Given the description of an element on the screen output the (x, y) to click on. 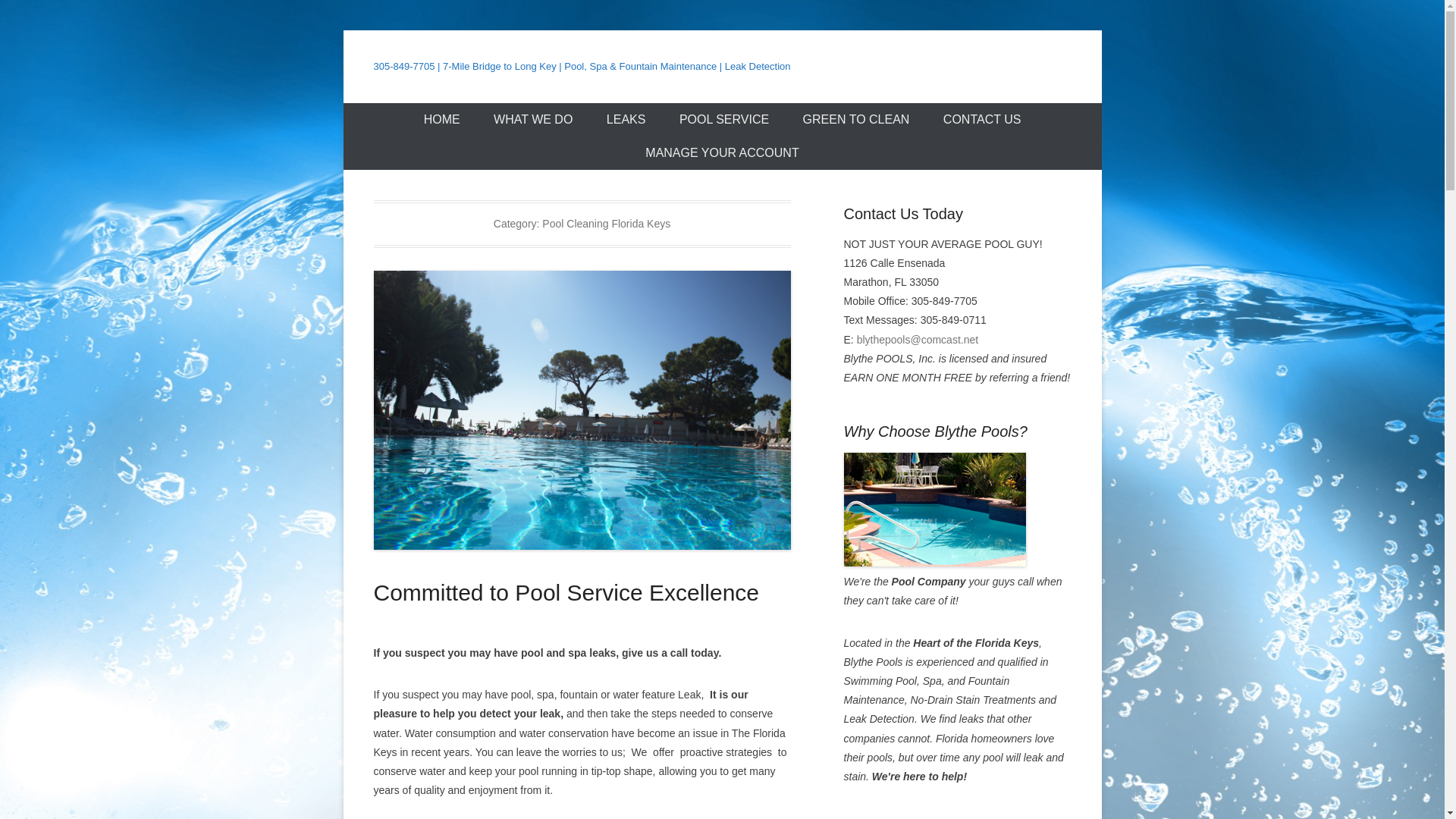
Permalink to Committed to Pool Service Excellence (581, 410)
GREEN TO CLEAN (855, 119)
CONTACT US (982, 119)
HOME (442, 119)
Committed to Pool Service Excellence (565, 592)
POOL SERVICE (723, 119)
LEAKS (626, 119)
WHAT WE DO (533, 119)
MANAGE YOUR ACCOUNT (721, 152)
